Given the description of an element on the screen output the (x, y) to click on. 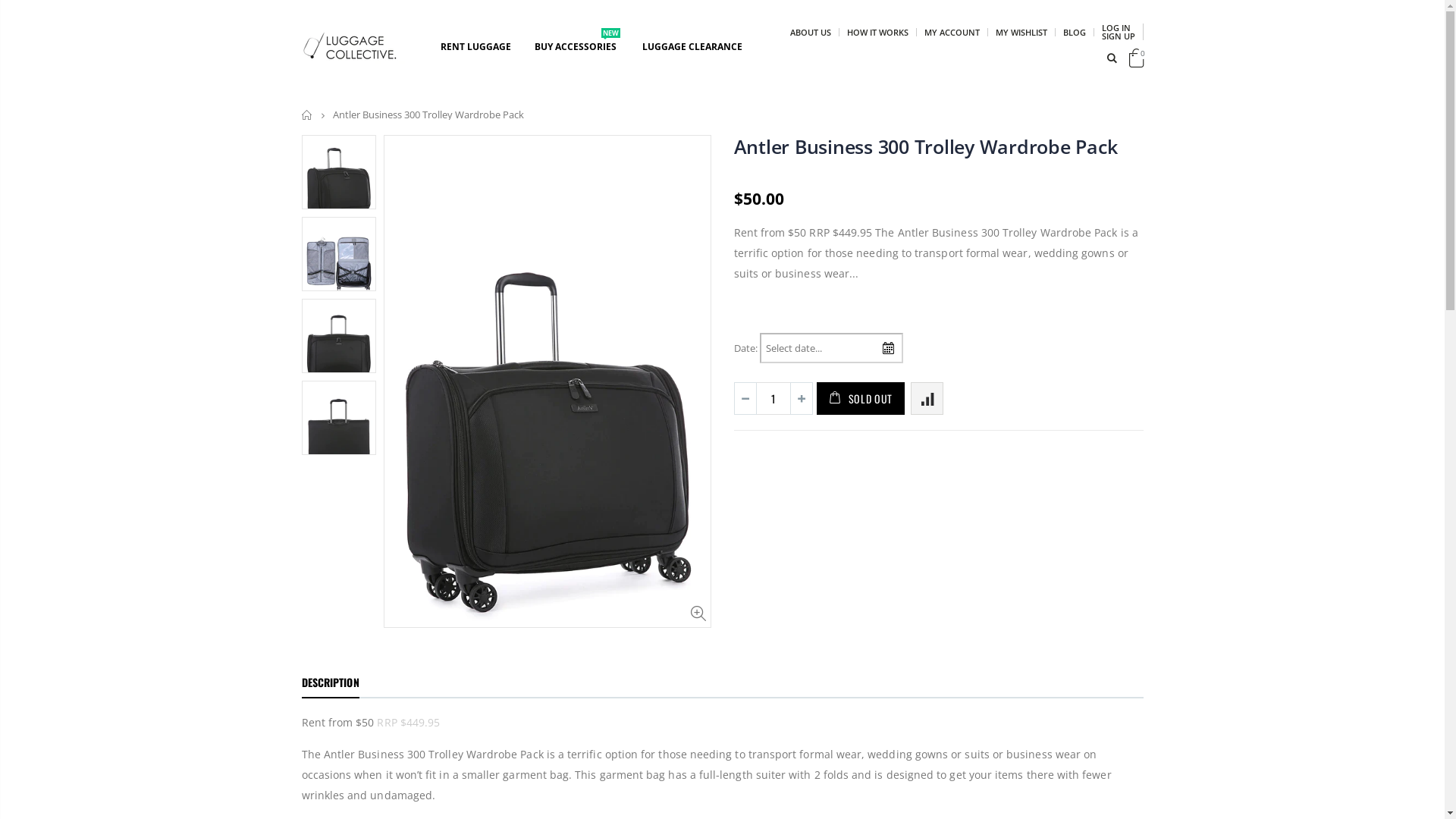
MY ACCOUNT Element type: text (951, 31)
MY WISHLIST Element type: text (1020, 31)
LOG IN Element type: text (1115, 27)
RENT LUGGAGE Element type: text (480, 46)
0 Element type: text (1135, 60)
DESCRIPTION Element type: text (330, 683)
SOLD OUT Element type: text (859, 398)
BLOG Element type: text (1074, 31)
HOW IT WORKS Element type: text (876, 31)
Home Element type: text (307, 114)
SIGN UP Element type: text (1117, 35)
BUY ACCESSORIES
NEW Element type: text (579, 46)
ABOUT US Element type: text (810, 31)
Antler Business 300 Trolley Wardrobe Pack Element type: text (925, 146)
Add to compare Element type: hover (926, 398)
LUGGAGE CLEARANCE Element type: text (696, 46)
